Given the description of an element on the screen output the (x, y) to click on. 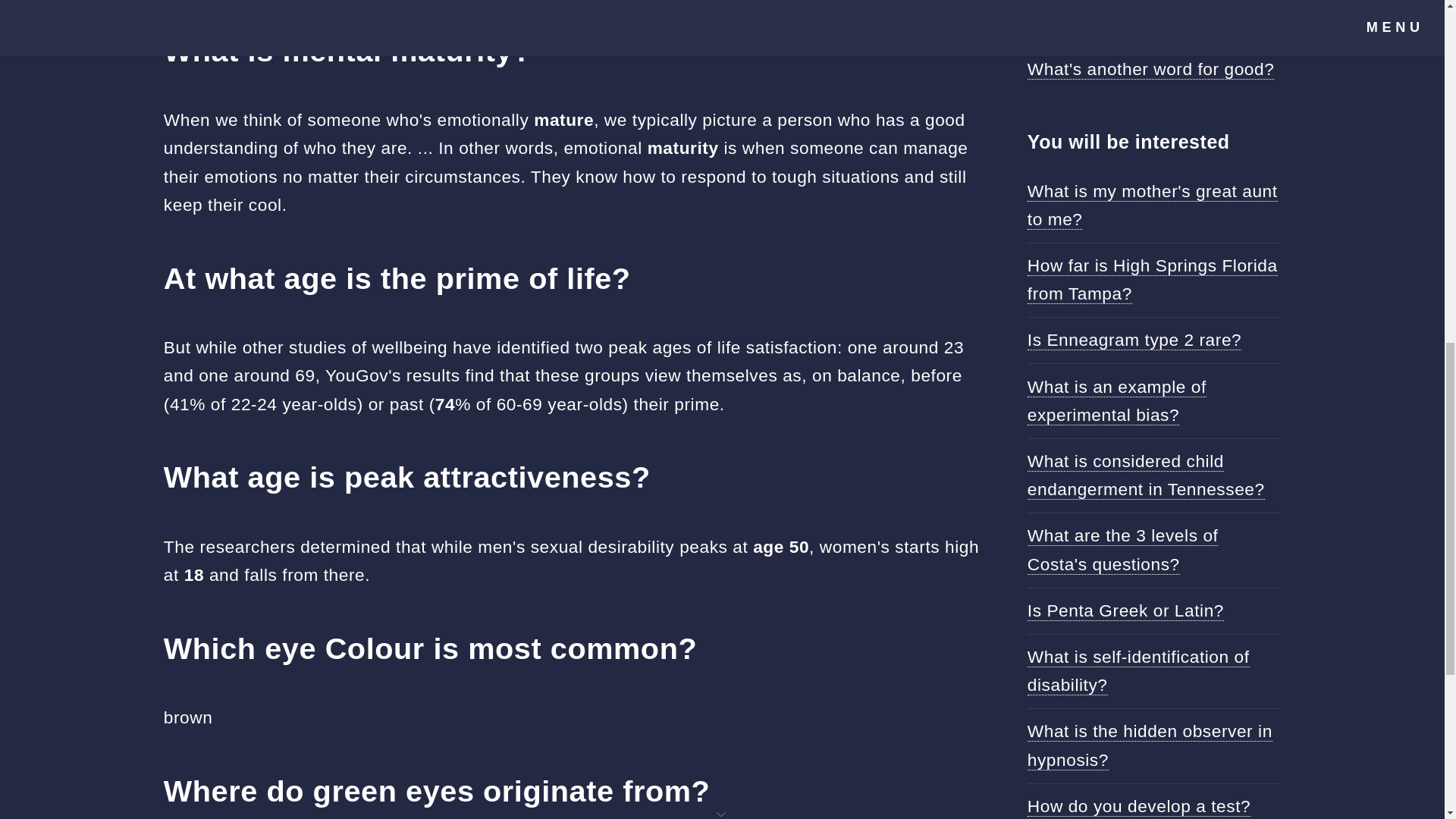
What is an example of experimental bias? (1117, 400)
How far is High Springs Florida from Tampa? (1152, 279)
What are the 3 levels of Costa's questions? (1122, 549)
What's another word for good? (1151, 68)
What is self-identification of disability? (1138, 671)
What does No 1 stand for? (1135, 23)
What is the hidden observer in hypnosis? (1149, 745)
Is Enneagram type 2 rare? (1134, 340)
How do you develop a test? (1138, 806)
Is Penta Greek or Latin? (1125, 610)
